Given the description of an element on the screen output the (x, y) to click on. 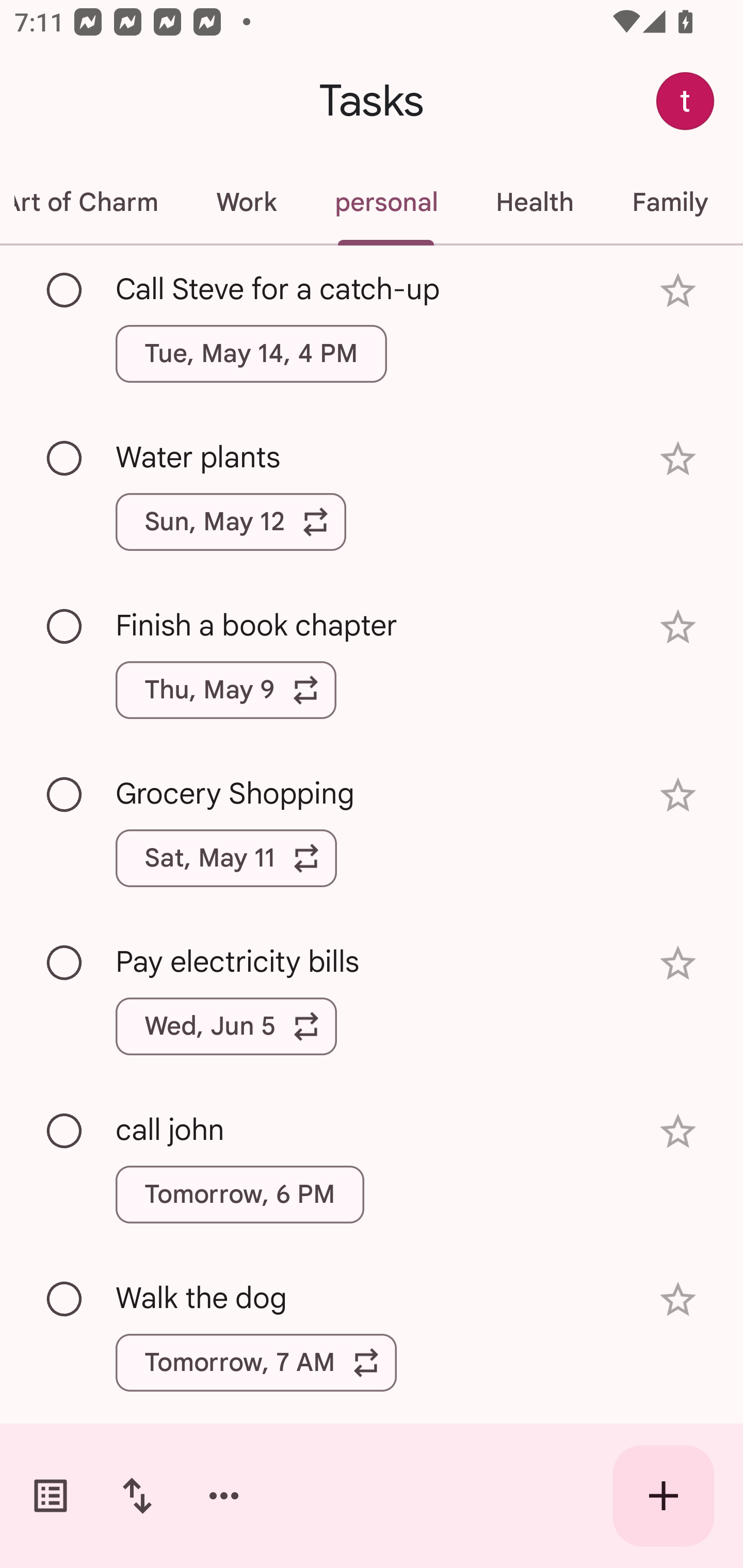
The Art of Charm (93, 202)
Work (245, 202)
Health (534, 202)
Family (669, 202)
Add star (677, 290)
Mark as complete (64, 290)
Tue, May 14, 4 PM (251, 353)
Add star (677, 458)
Mark as complete (64, 459)
Sun, May 12 (230, 522)
Add star (677, 627)
Mark as complete (64, 627)
Thu, May 9 (225, 689)
Add star (677, 795)
Mark as complete (64, 794)
Sat, May 11 (225, 858)
Add star (677, 963)
Mark as complete (64, 963)
Wed, Jun 5 (225, 1026)
Add star (677, 1131)
Mark as complete (64, 1132)
Tomorrow, 6 PM (239, 1193)
Add star (677, 1299)
Mark as complete (64, 1299)
Tomorrow, 7 AM (255, 1362)
Switch task lists (50, 1495)
Create new task (663, 1495)
Change sort order (136, 1495)
More options (223, 1495)
